Given the description of an element on the screen output the (x, y) to click on. 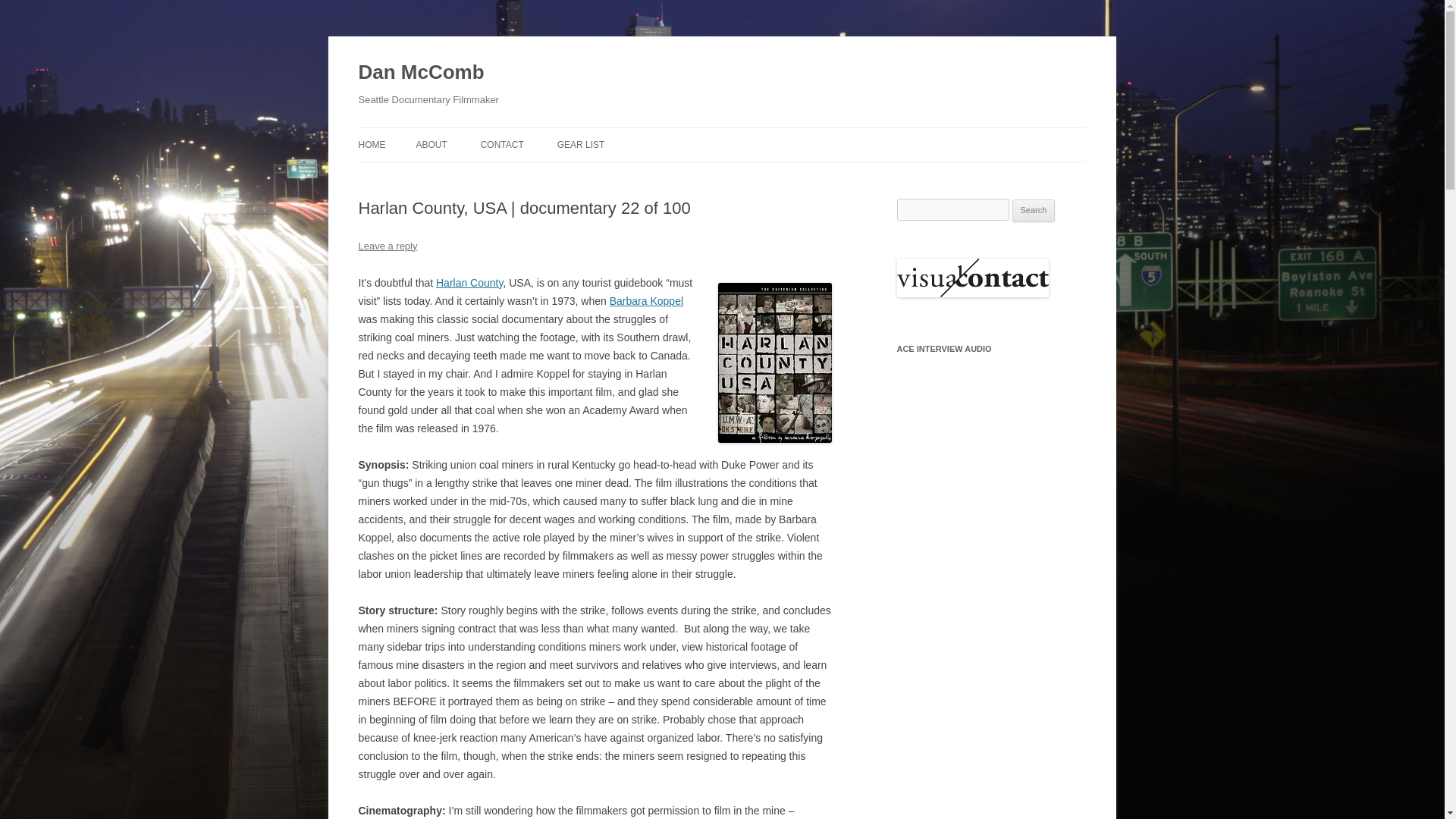
Leave a reply (387, 245)
CONTACT (502, 144)
Dan McComb (420, 72)
GEAR LIST (581, 144)
Dan McComb (420, 72)
HOME (371, 144)
Search (1033, 210)
Barbara Koppel (646, 300)
ABOUT (430, 144)
Search (1033, 210)
Harlan County (468, 282)
